Given the description of an element on the screen output the (x, y) to click on. 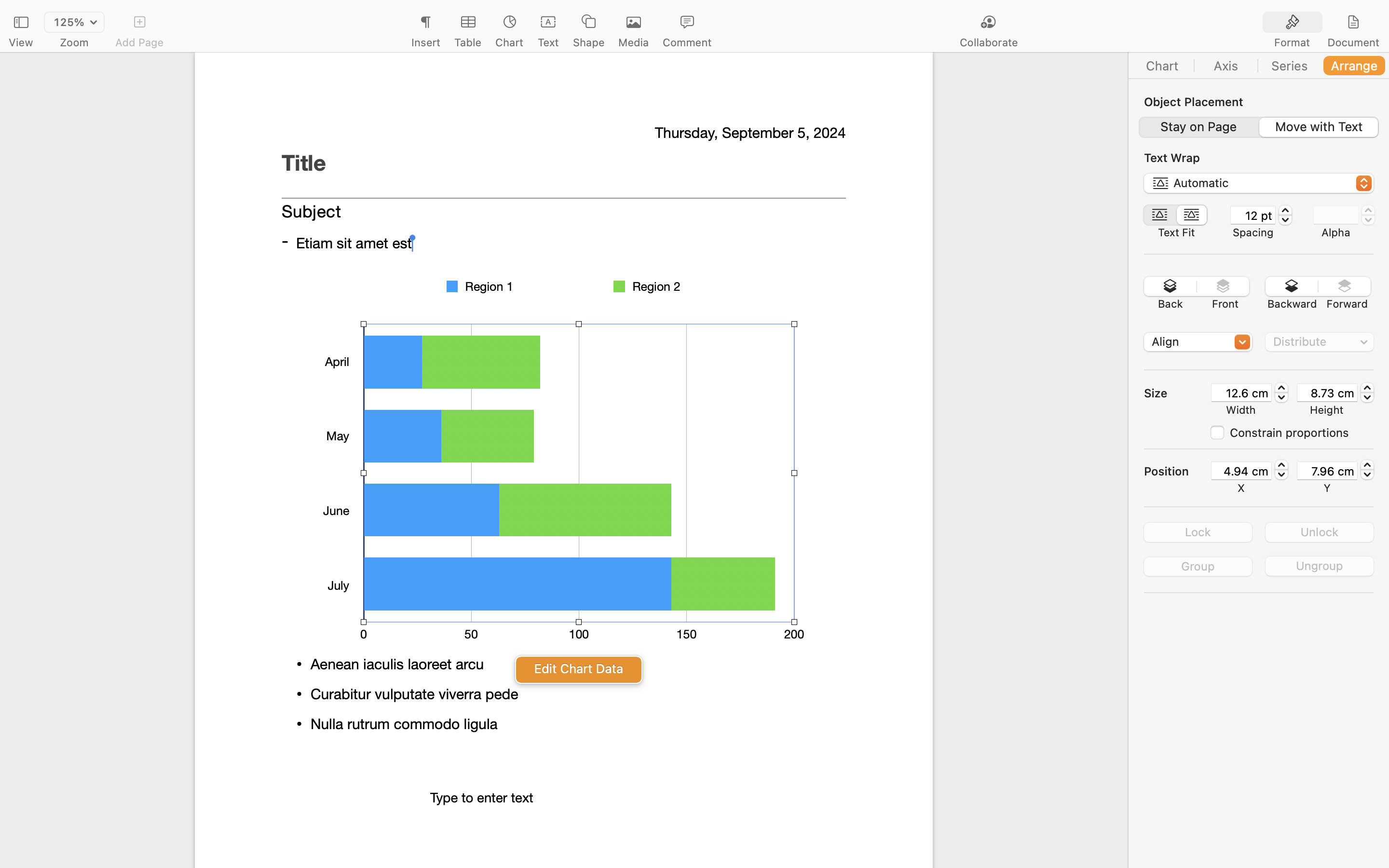
Position Element type: AXStaticText (1176, 470)
12.6 cm Element type: AXTextField (1241, 392)
247.3510284423828 Element type: AXIncrementor (1367, 392)
225.50400390625003 Element type: AXIncrementor (1367, 469)
<AXUIElement 0x10f010910> {pid=1482} Element type: AXRadioGroup (1258, 126)
